Given the description of an element on the screen output the (x, y) to click on. 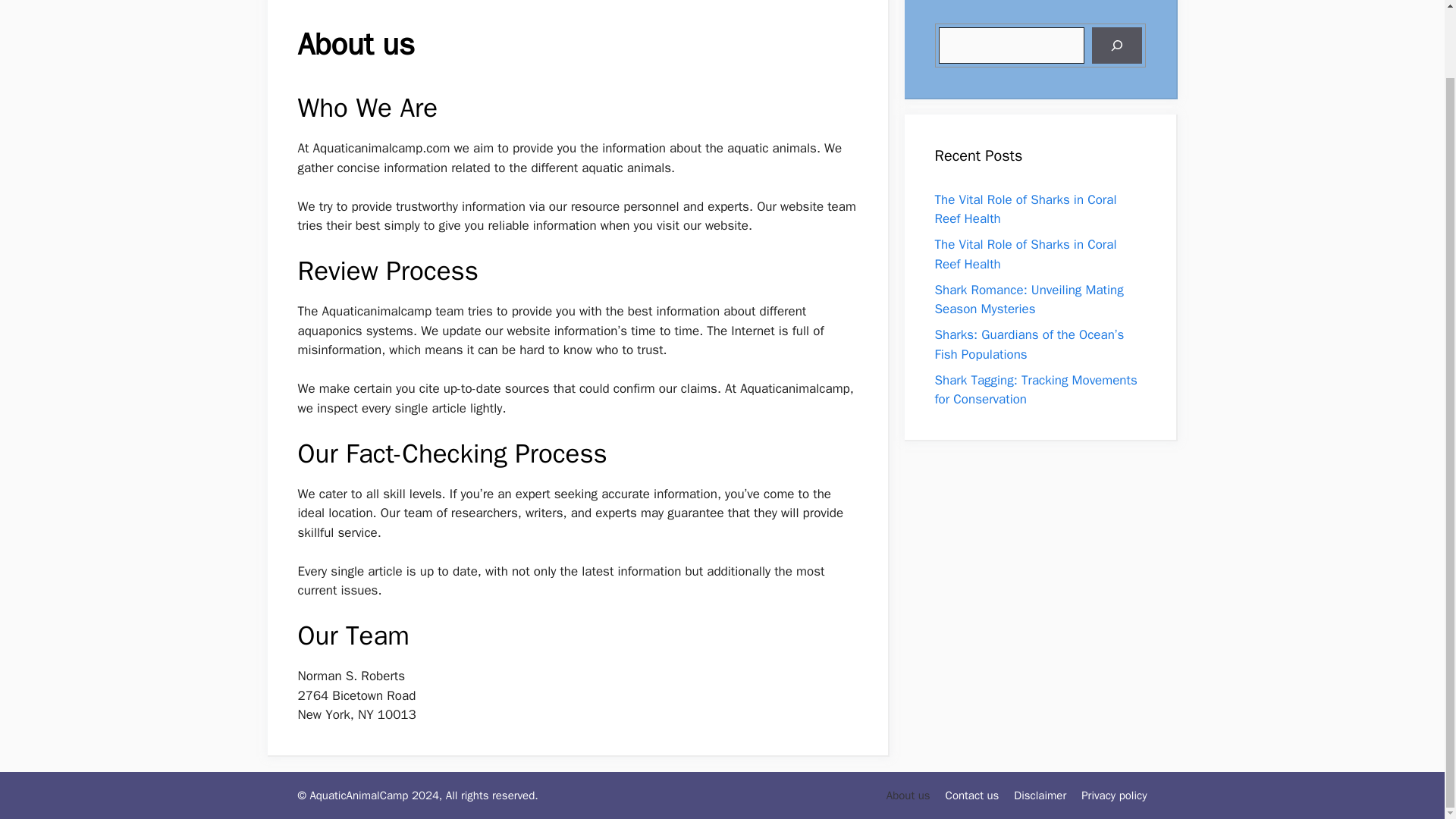
Privacy policy (1114, 794)
Shark Romance: Unveiling Mating Season Mysteries (1028, 298)
Contact us (971, 794)
Shark Tagging: Tracking Movements for Conservation (1035, 389)
The Vital Role of Sharks in Coral Reef Health (1025, 209)
About us (908, 794)
Disclaimer (1039, 794)
The Vital Role of Sharks in Coral Reef Health (1025, 253)
